Given the description of an element on the screen output the (x, y) to click on. 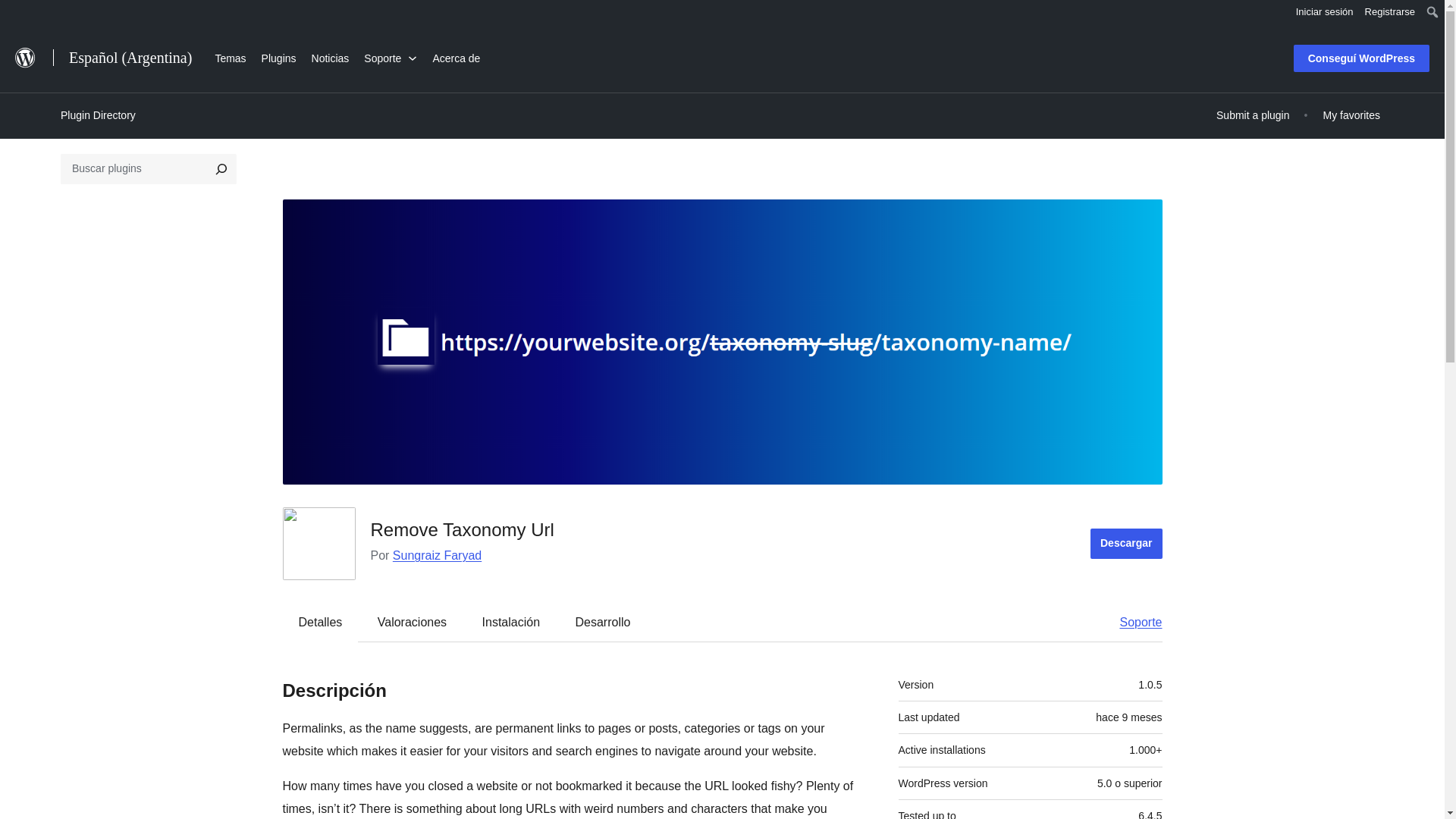
My favorites (1351, 115)
Registrarse (1390, 12)
Valoraciones (411, 622)
Acerca de (456, 56)
Descargar (1125, 543)
Soporte (390, 56)
Submit a plugin (1253, 115)
Plugin Directory (97, 115)
Detalles (320, 622)
Desarrollo (602, 622)
Buscar (16, 13)
Soporte (1132, 622)
Sungraiz Faryad (437, 554)
